Given the description of an element on the screen output the (x, y) to click on. 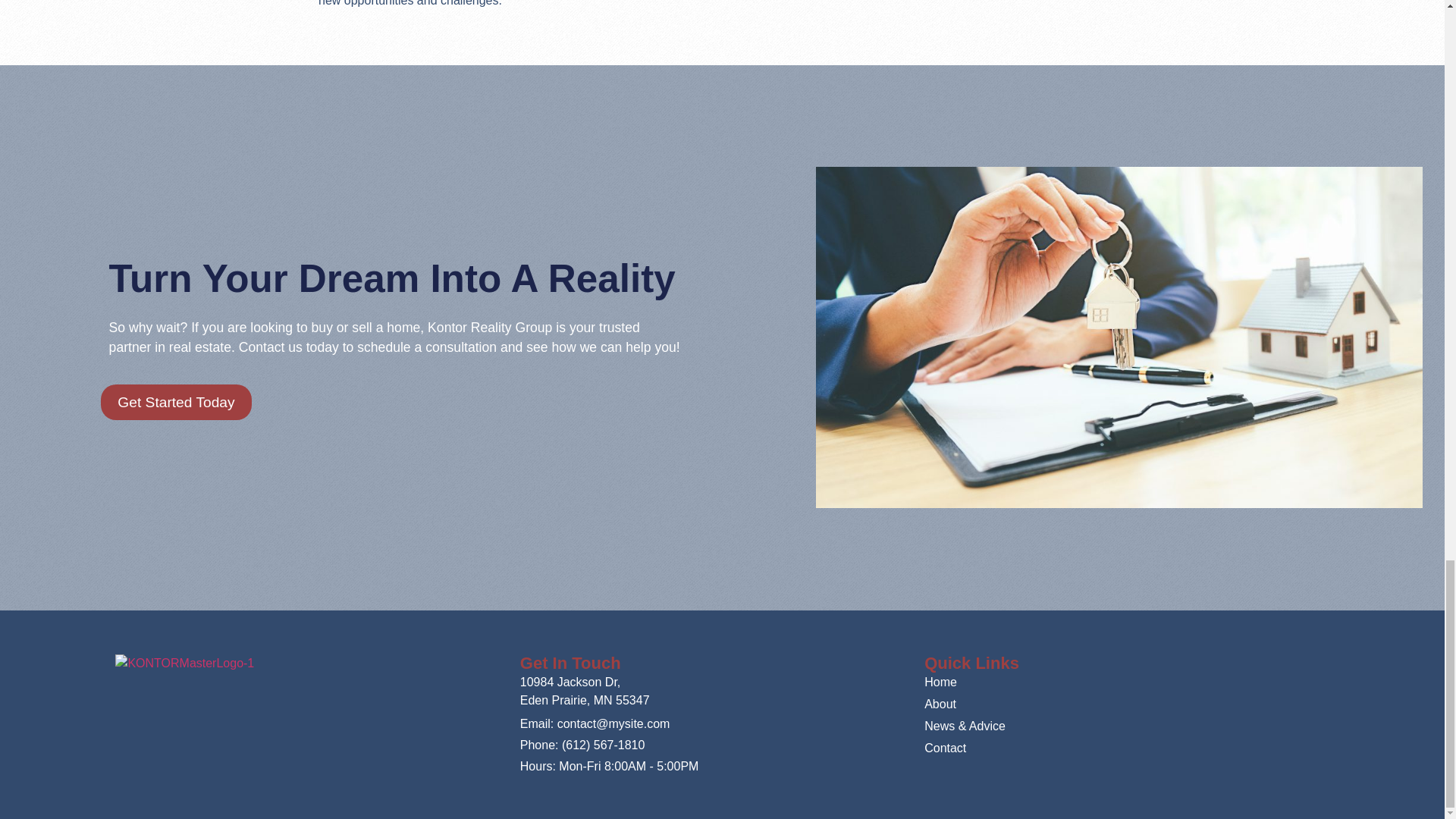
Home (1125, 682)
Get Started Today (175, 402)
KONTORMasterLogo-1 (184, 663)
Contact (1125, 748)
About (1125, 704)
